Given the description of an element on the screen output the (x, y) to click on. 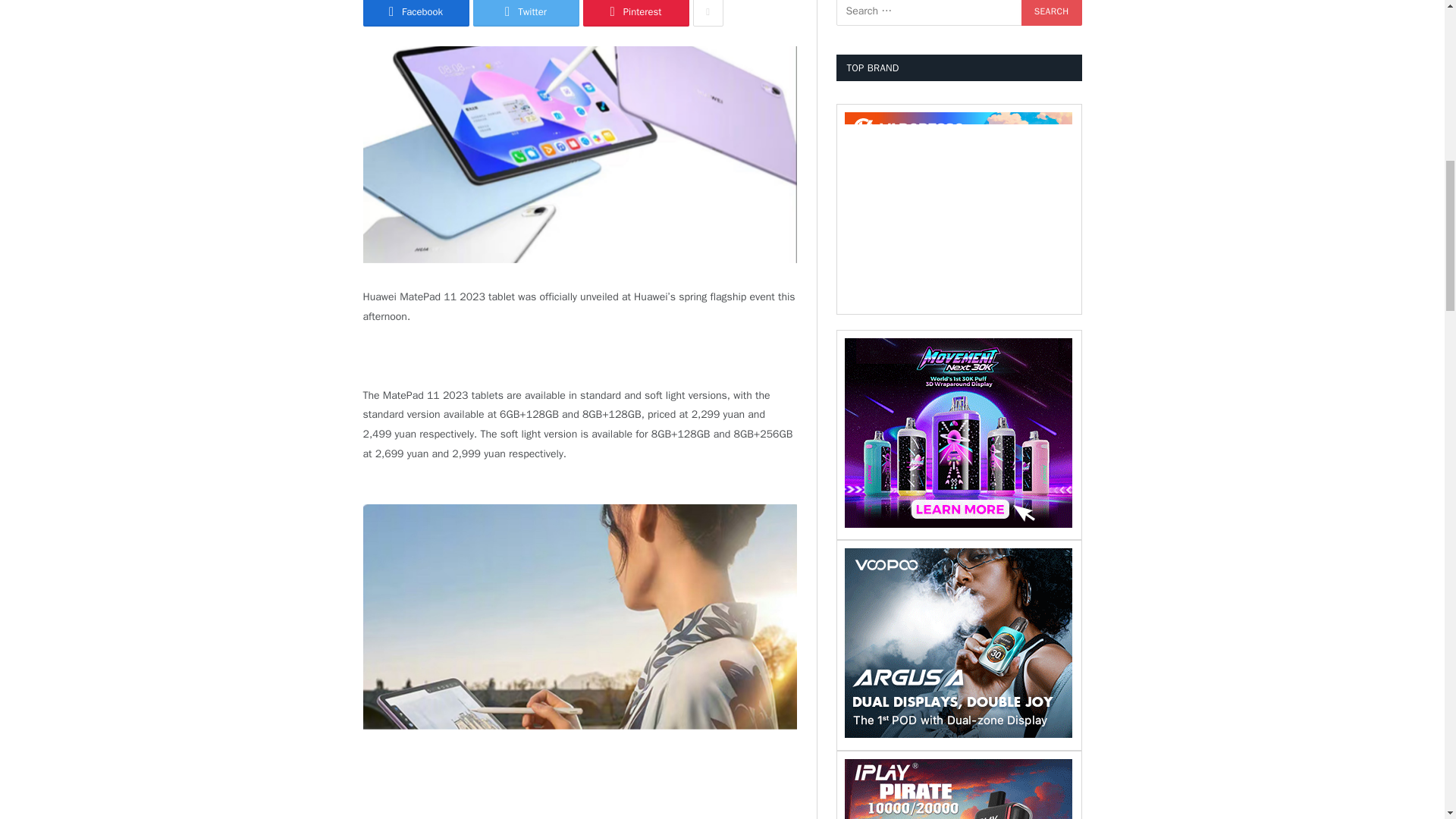
Show More Social Sharing (708, 13)
Share on Facebook (415, 13)
Share on Twitter (526, 13)
Search (1051, 12)
Share on Pinterest (635, 13)
Search (1051, 12)
